Given the description of an element on the screen output the (x, y) to click on. 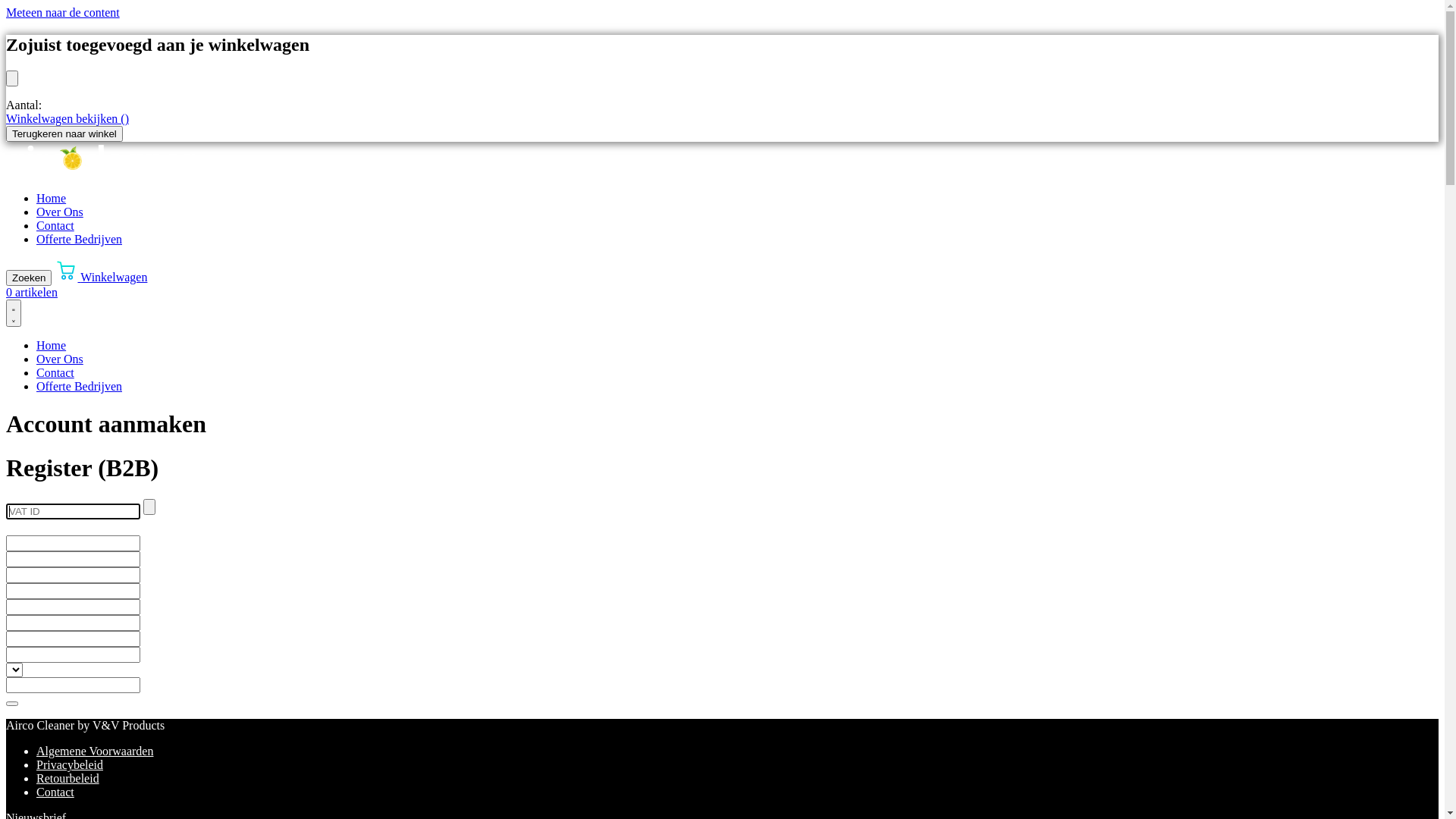
Winkelwagen bekijken () Element type: text (67, 118)
Home Element type: text (50, 344)
Contact Element type: text (55, 225)
Privacybeleid Element type: text (69, 764)
Terugkeren naar winkel Element type: text (64, 133)
Zoeken Element type: text (28, 277)
Contact Element type: text (55, 372)
Offerte Bedrijven Element type: text (79, 385)
Offerte Bedrijven Element type: text (79, 238)
Home Element type: text (50, 197)
Retourbeleid Element type: text (67, 777)
Meteen naar de content Element type: text (62, 12)
Contact Element type: text (55, 791)
Over Ons Element type: text (59, 358)
Over Ons Element type: text (59, 211)
Algemene Voorwaarden Element type: text (94, 750)
